Given the description of an element on the screen output the (x, y) to click on. 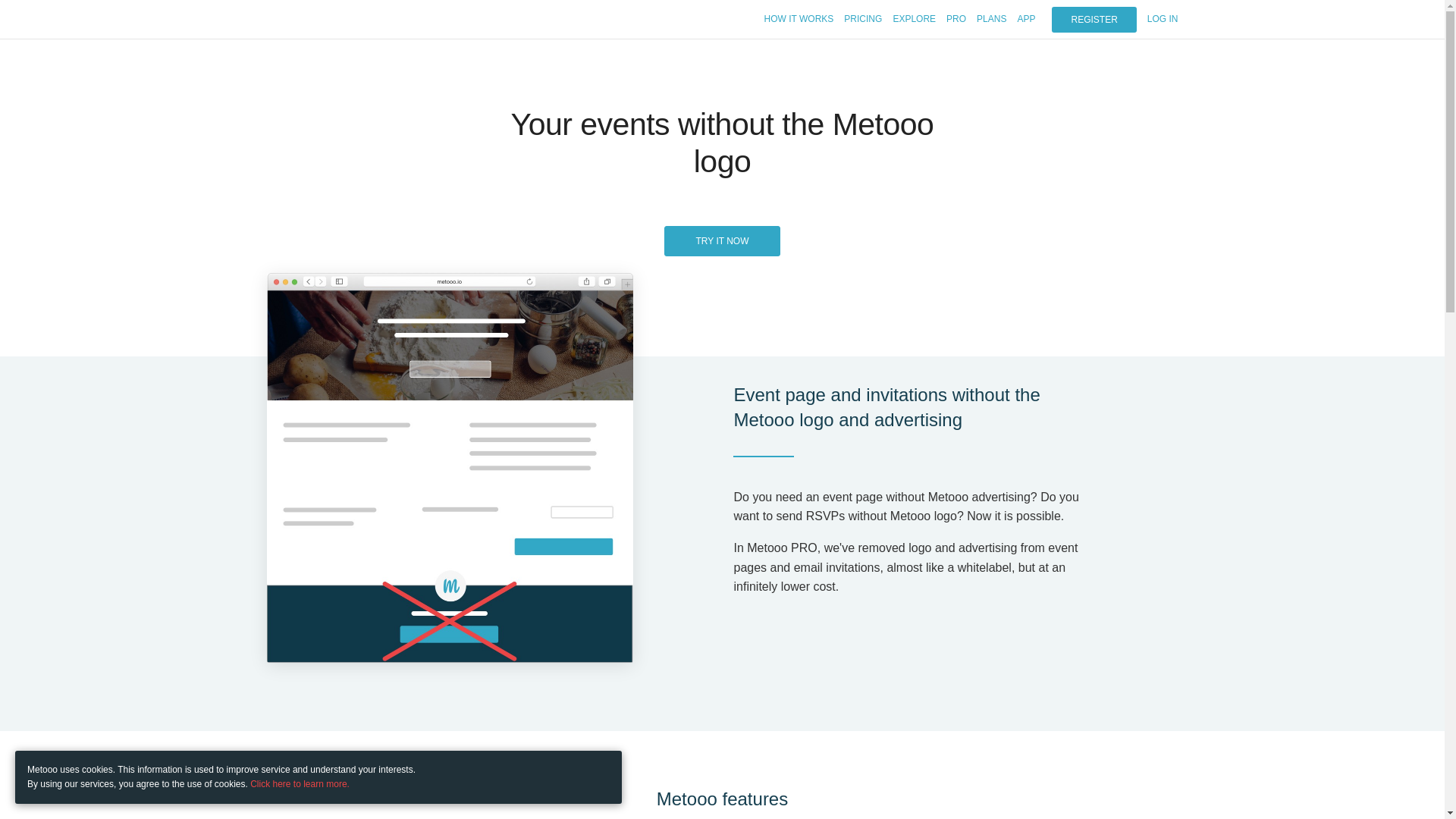
PRICING (863, 18)
LOG IN (1162, 18)
HOW IT WORKS (799, 18)
REGISTER (1093, 19)
APP (1025, 18)
TRY IT NOW (720, 241)
PLANS (991, 18)
EXPLORE (914, 18)
PRO (956, 18)
